Given the description of an element on the screen output the (x, y) to click on. 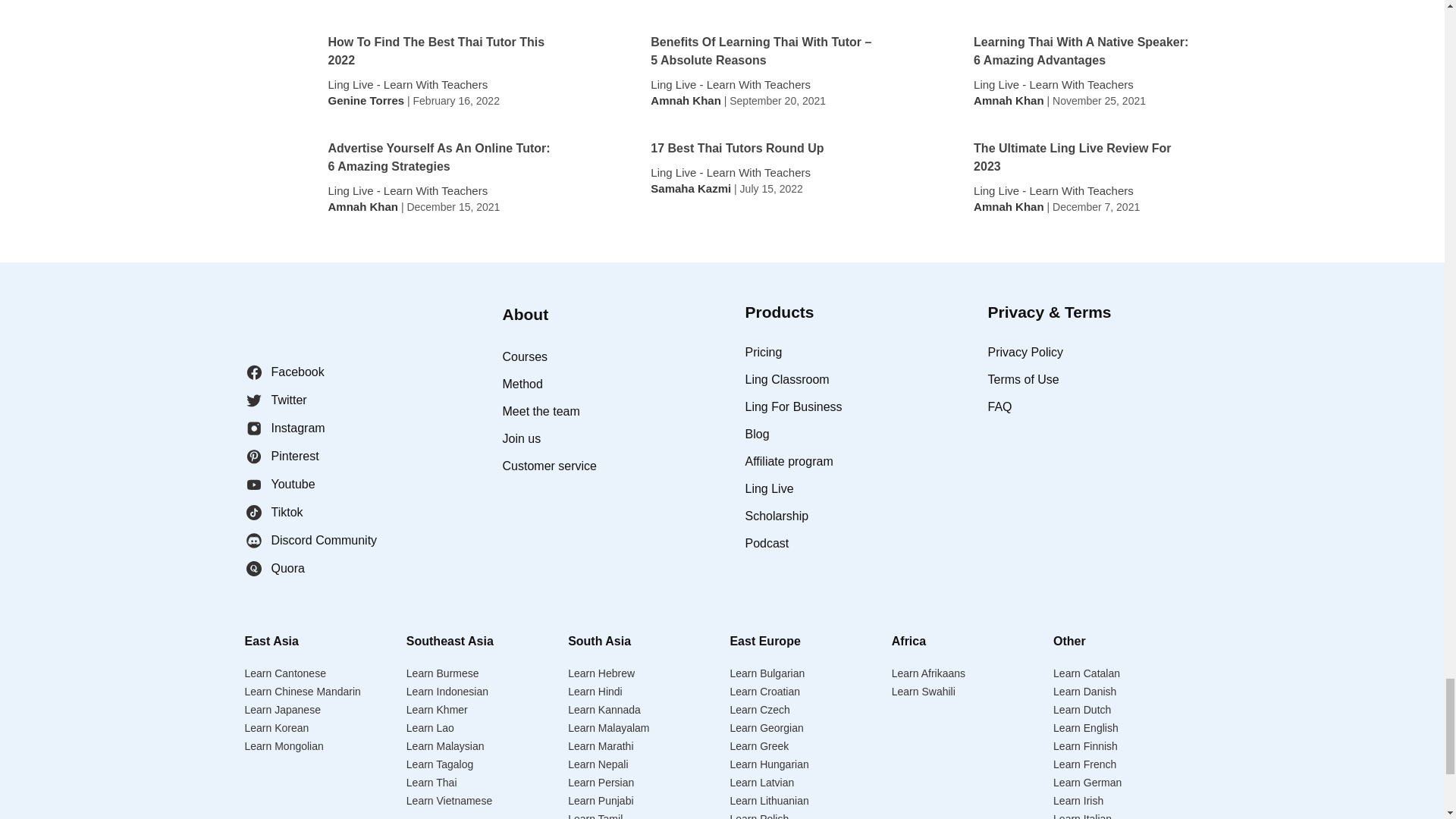
Learning Thai With A Native Speaker: 6 Amazing Advantages (1086, 51)
How To Find The Best Thai Tutor This 2022 (439, 51)
17 Best Thai Tutors Round Up (737, 148)
Advertise Yourself As An Online Tutor: 6 Amazing Strategies (439, 157)
The Ultimate Ling Live Review For 2023 (1086, 157)
